Given the description of an element on the screen output the (x, y) to click on. 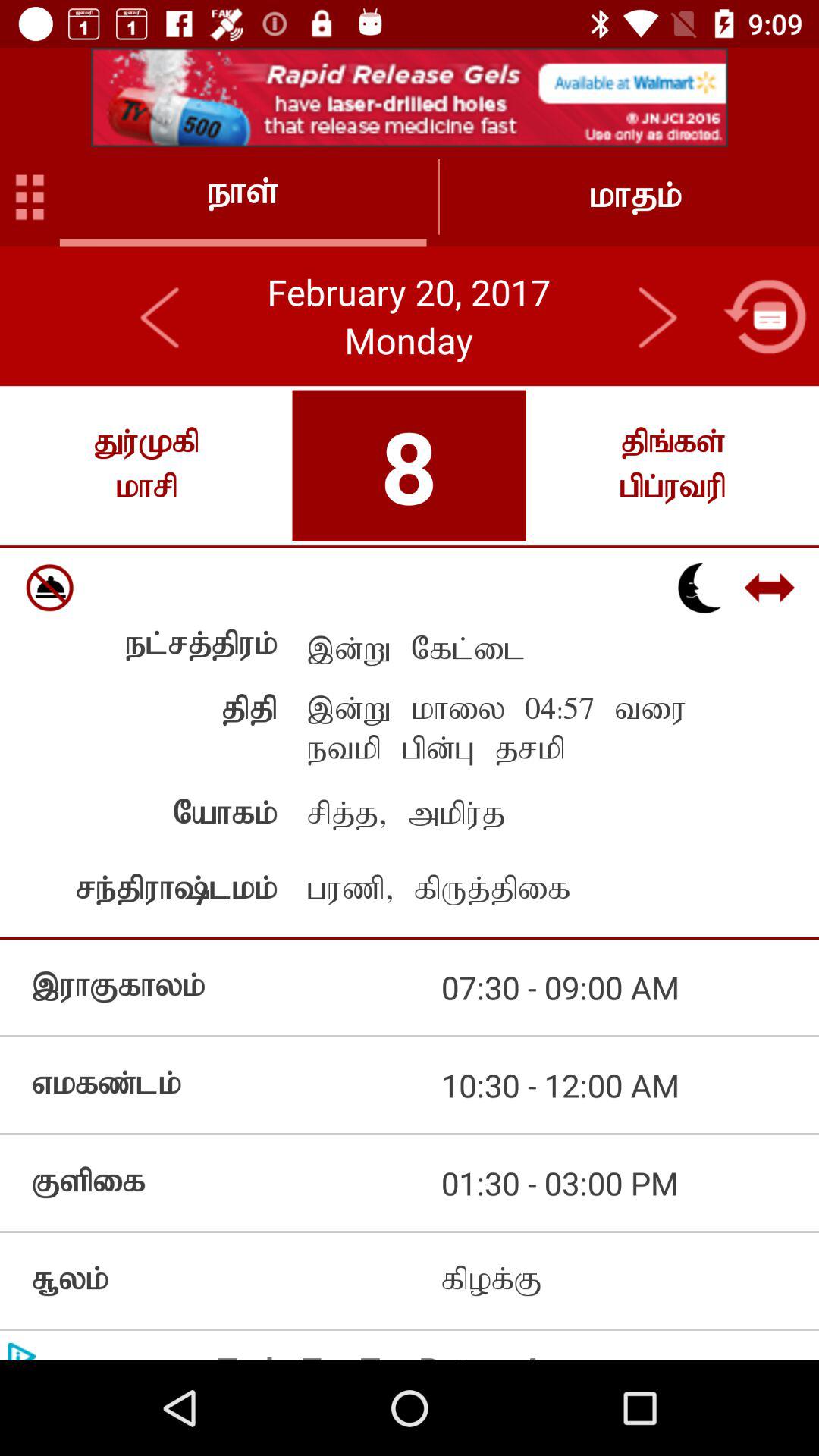
changes calendar view (764, 316)
